Given the description of an element on the screen output the (x, y) to click on. 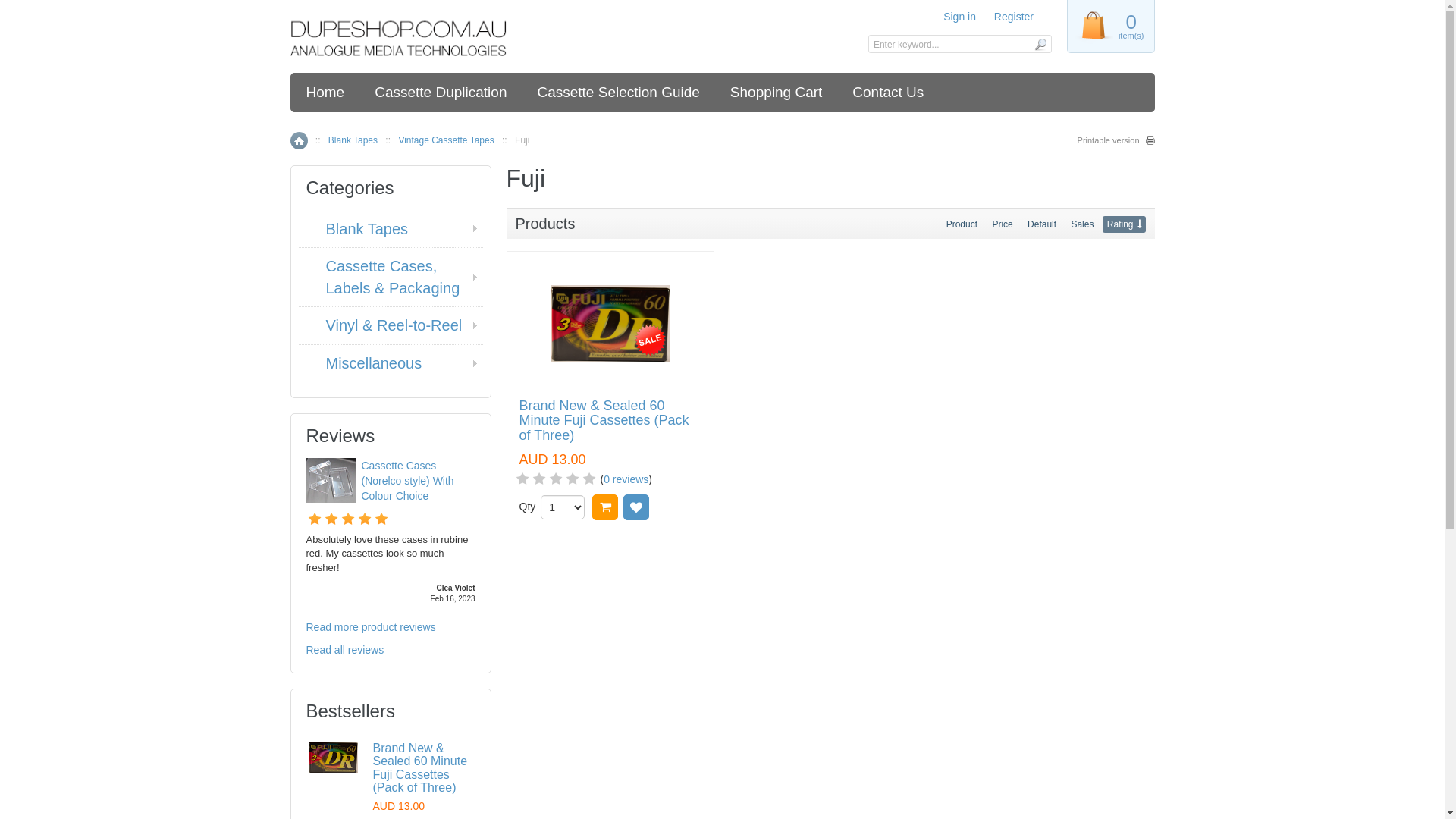
0 reviews Element type: text (625, 479)
Brand New & Sealed 60 Minute Fuji Cassettes (Pack of Three) Element type: hover (610, 323)
Add to wish list Element type: text (636, 507)
Vinyl & Reel-to-Reel Element type: text (396, 325)
Brand New & Sealed 60 Minute Fuji Cassettes (Pack of Three) Element type: hover (332, 757)
Cassette Cases (Norelco style) With Colour Choice Element type: text (406, 480)
Miscellaneous Element type: text (396, 363)
Cassette Cases, Labels & Packaging Element type: text (396, 276)
Read more product reviews Element type: text (371, 627)
Product Element type: text (961, 224)
Rating Element type: text (1123, 224)
Blank Tapes Element type: text (352, 139)
Shopping Cart Element type: text (776, 92)
Cassette Duplication Element type: text (440, 92)
Blank Tapes Element type: text (396, 228)
Home Element type: text (298, 140)
Vintage Cassette Tapes Element type: text (445, 139)
Price Element type: text (1001, 224)
Printable version Element type: text (1115, 140)
Cassette Cases (Norelco style) With Colour Choice Element type: hover (330, 480)
Register Element type: text (1013, 16)
Read all reviews Element type: text (345, 649)
Sales Element type: text (1082, 224)
Brand New & Sealed 60 Minute Fuji Cassettes (Pack of Three) Element type: text (420, 767)
Brand New & Sealed 60 Minute Fuji Cassettes (Pack of Three) Element type: text (609, 420)
Sign in Element type: text (959, 16)
Contact Us Element type: text (887, 92)
Home Element type: text (325, 92)
Default Element type: text (1041, 224)
Add to cart Element type: text (605, 507)
Cassette Selection Guide Element type: text (617, 92)
